Given the description of an element on the screen output the (x, y) to click on. 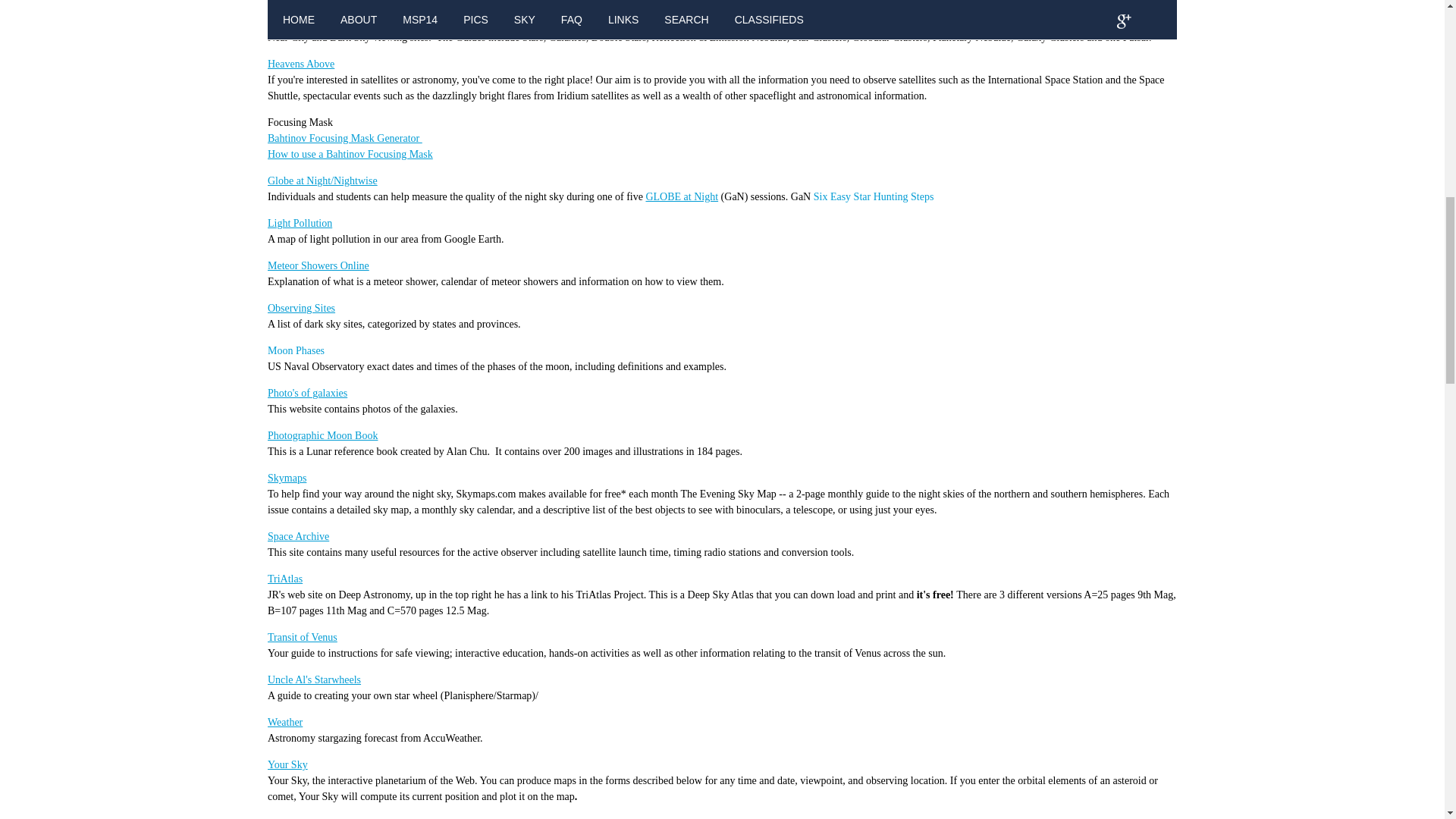
Bahtinov Focusing Mask Generator  (344, 138)
Bahtinov Focusing Mask (379, 153)
How to use a (296, 153)
Six Easy Star Hunting Steps (873, 196)
Heavens Above (300, 63)
GLOBE at Night (681, 196)
Light Pollution (299, 223)
GLOBE at Night (681, 196)
Flinthill Deep Sky Guides (322, 5)
